Given the description of an element on the screen output the (x, y) to click on. 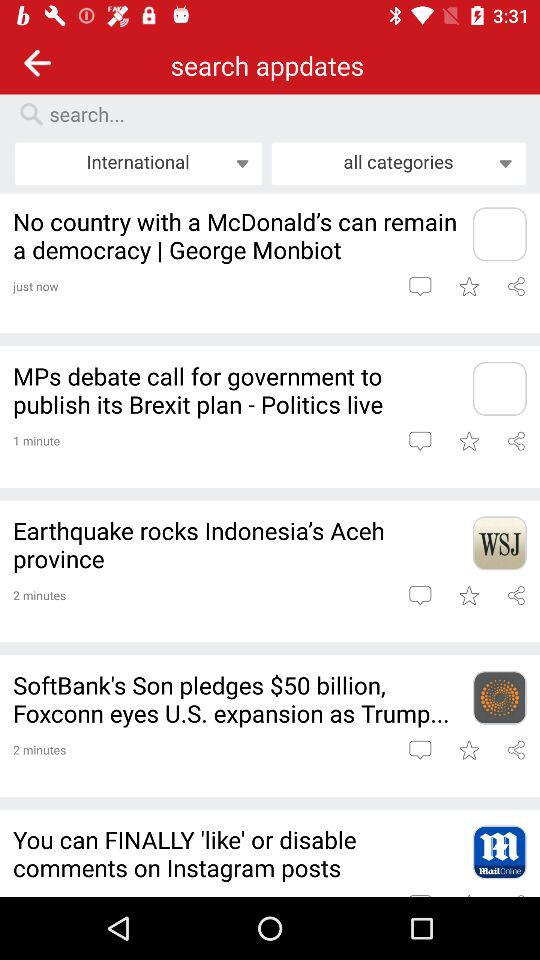
go back (37, 62)
